Given the description of an element on the screen output the (x, y) to click on. 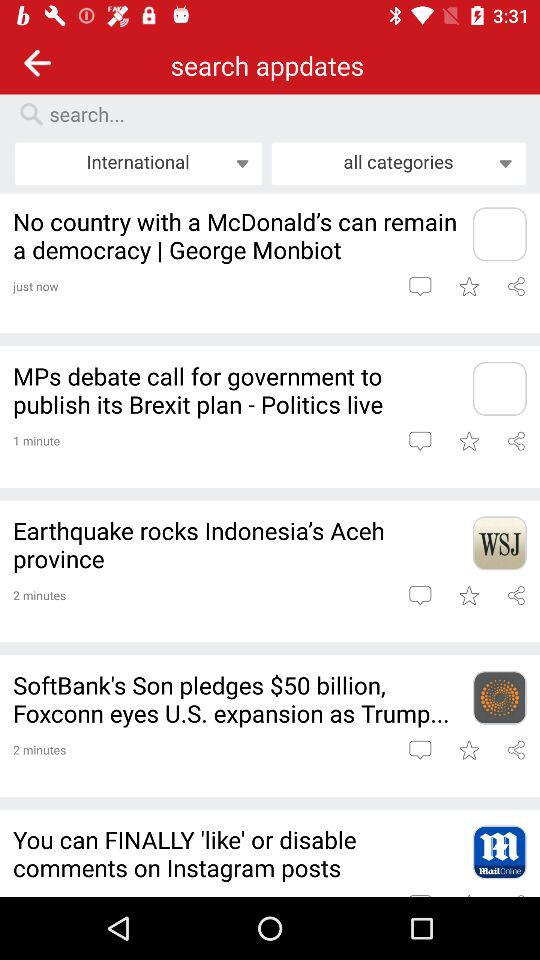
go back (37, 62)
